Given the description of an element on the screen output the (x, y) to click on. 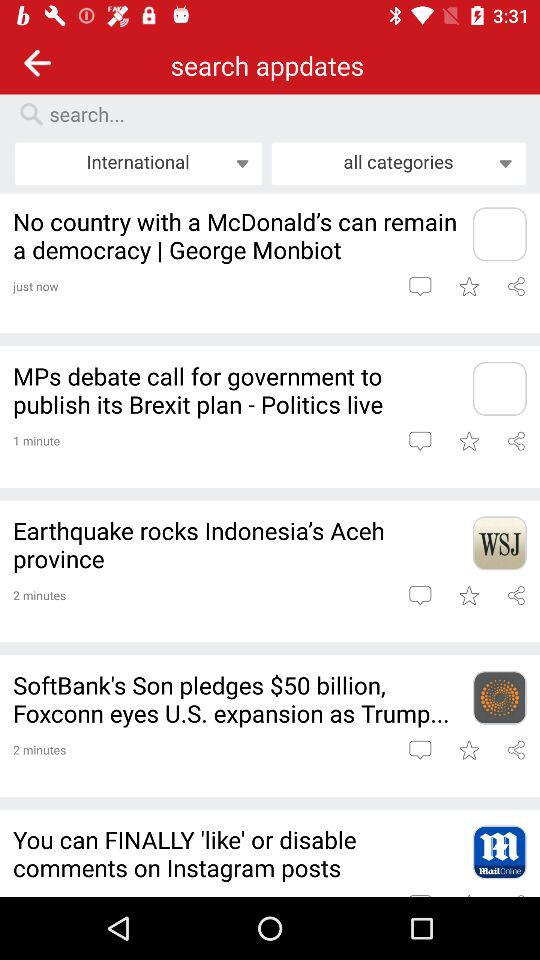
go back (37, 62)
